Given the description of an element on the screen output the (x, y) to click on. 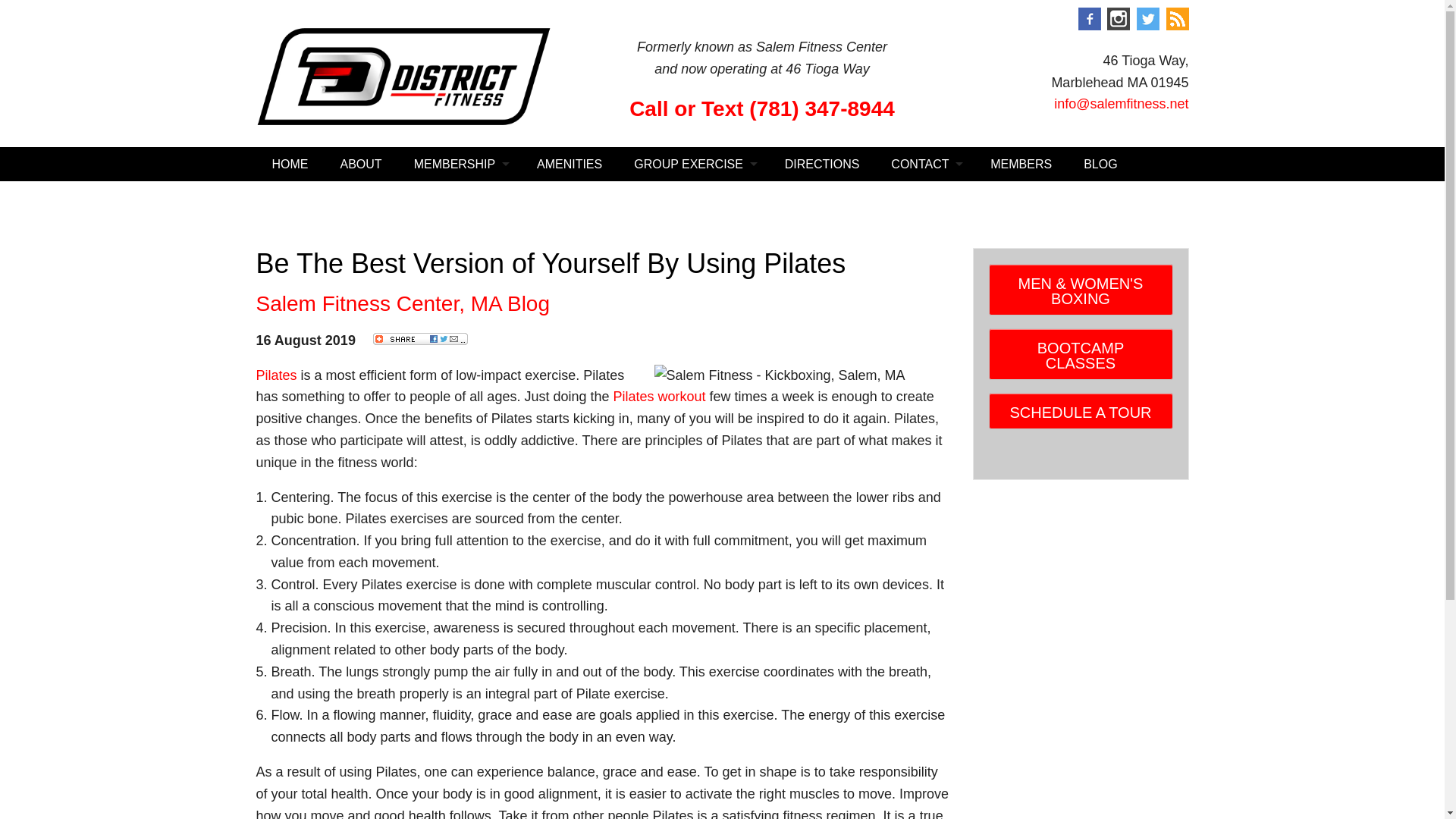
MEMBERS (1020, 163)
Pilates workout (658, 396)
GROUP EXERCISE (692, 163)
SCHEDULE A TOUR (1080, 411)
BOOTCAMP CLASSES (1080, 354)
MEMBERSHIP (459, 163)
DIRECTIONS (822, 163)
HOME (290, 163)
CONTACT (924, 163)
AMENITIES (569, 163)
